Given the description of an element on the screen output the (x, y) to click on. 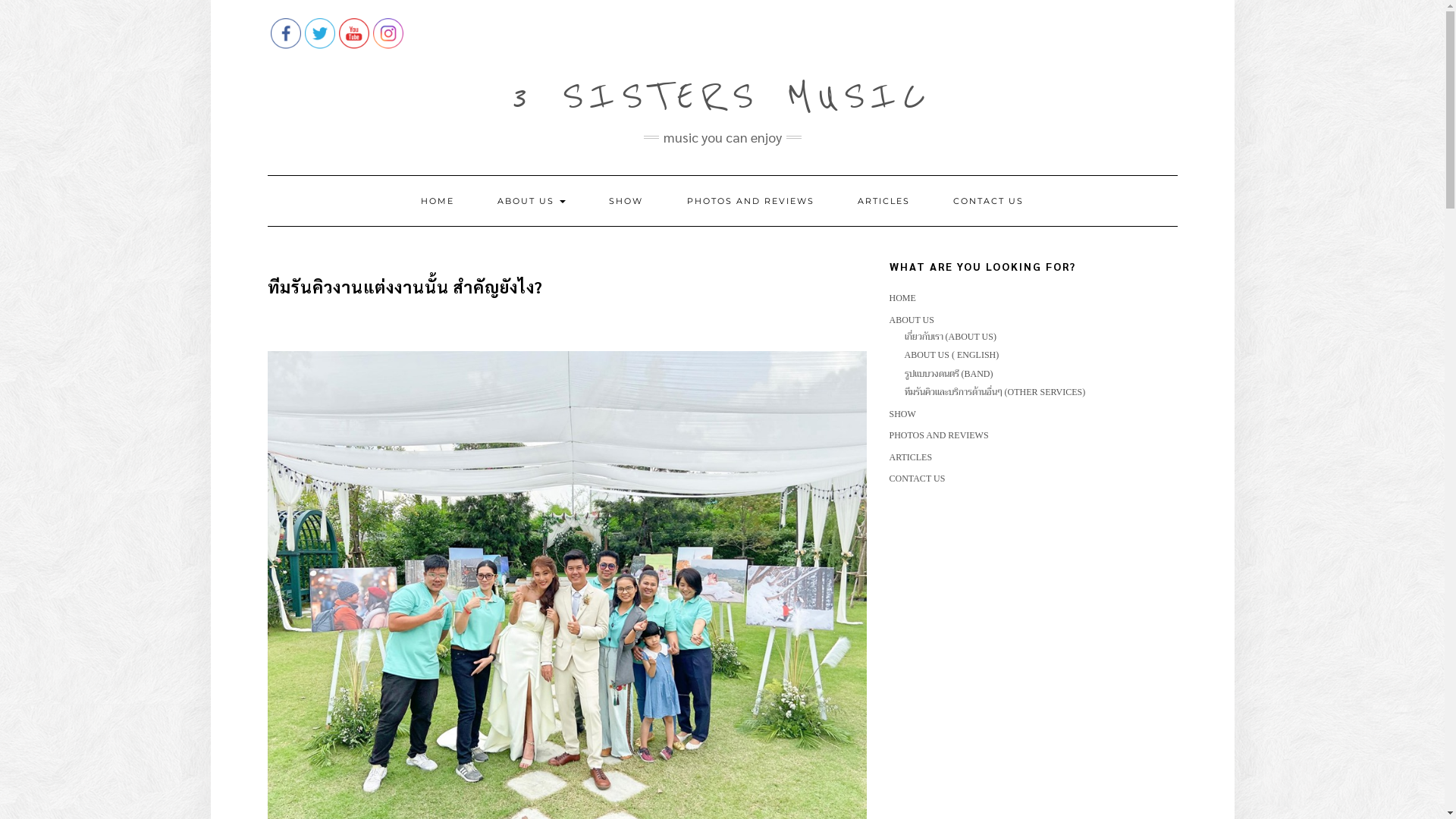
HOME Element type: text (437, 200)
SHOW Element type: text (625, 200)
ARTICLES Element type: text (909, 456)
HOME Element type: text (901, 297)
SHOW Element type: text (901, 413)
Facebook Element type: hover (284, 33)
PHOTOS AND REVIEWS Element type: text (938, 434)
PHOTOS AND REVIEWS Element type: text (750, 200)
Twitter Element type: hover (319, 33)
CONTACT US Element type: text (916, 478)
3 SISTERS MUSIC Element type: text (722, 95)
ARTICLES Element type: text (883, 200)
ABOUT US Element type: text (910, 319)
CONTACT US Element type: text (988, 200)
ABOUT US Element type: text (531, 200)
ABOUT US ( ENGLISH) Element type: text (950, 354)
